Given the description of an element on the screen output the (x, y) to click on. 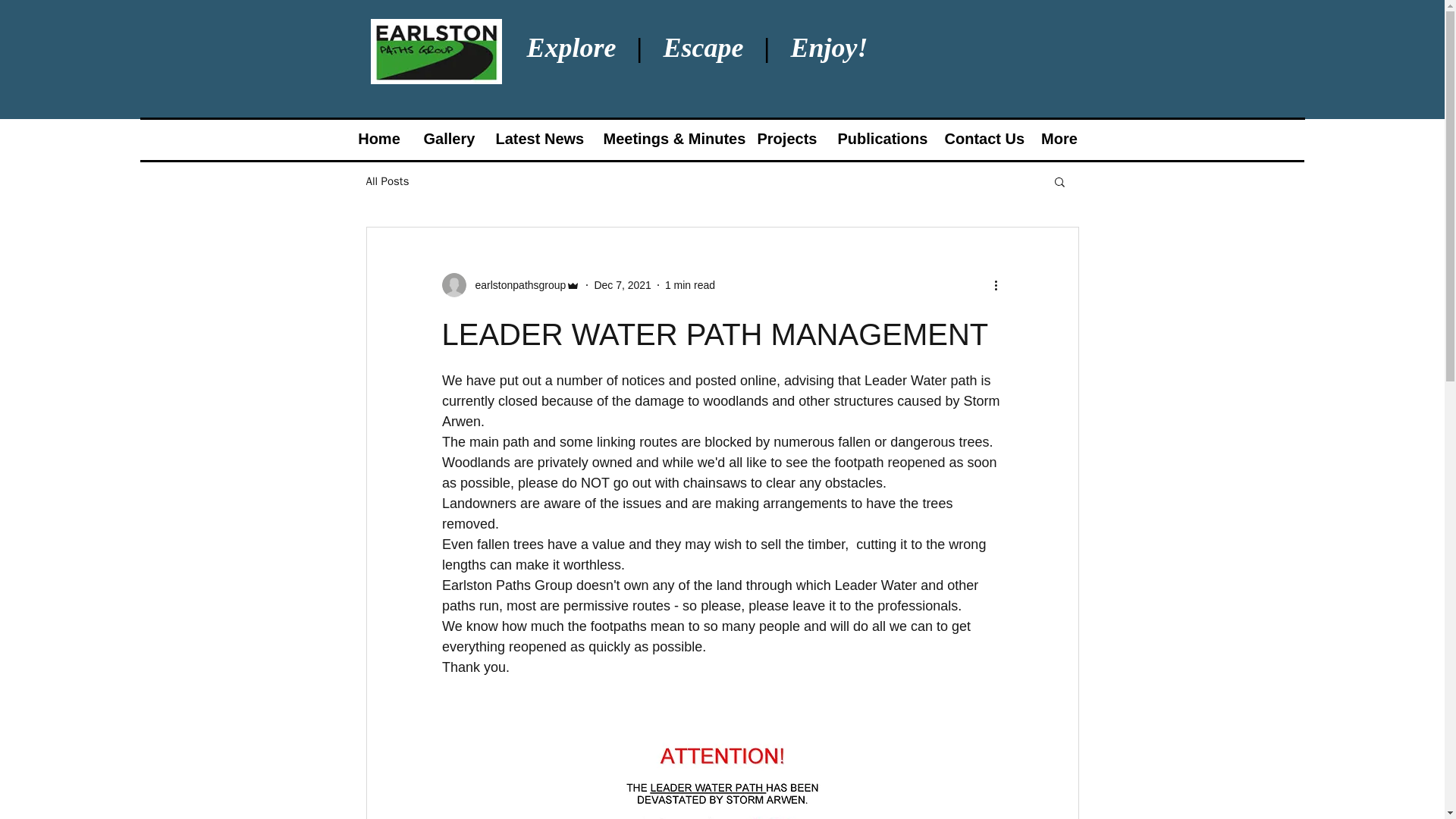
Publications (880, 138)
earlstonpathsgroup (510, 284)
All Posts (387, 181)
Projects (786, 138)
Home (379, 138)
Contact Us (981, 138)
Latest News (537, 138)
Dec 7, 2021 (622, 285)
1 min read (689, 285)
Gallery (448, 138)
